Given the description of an element on the screen output the (x, y) to click on. 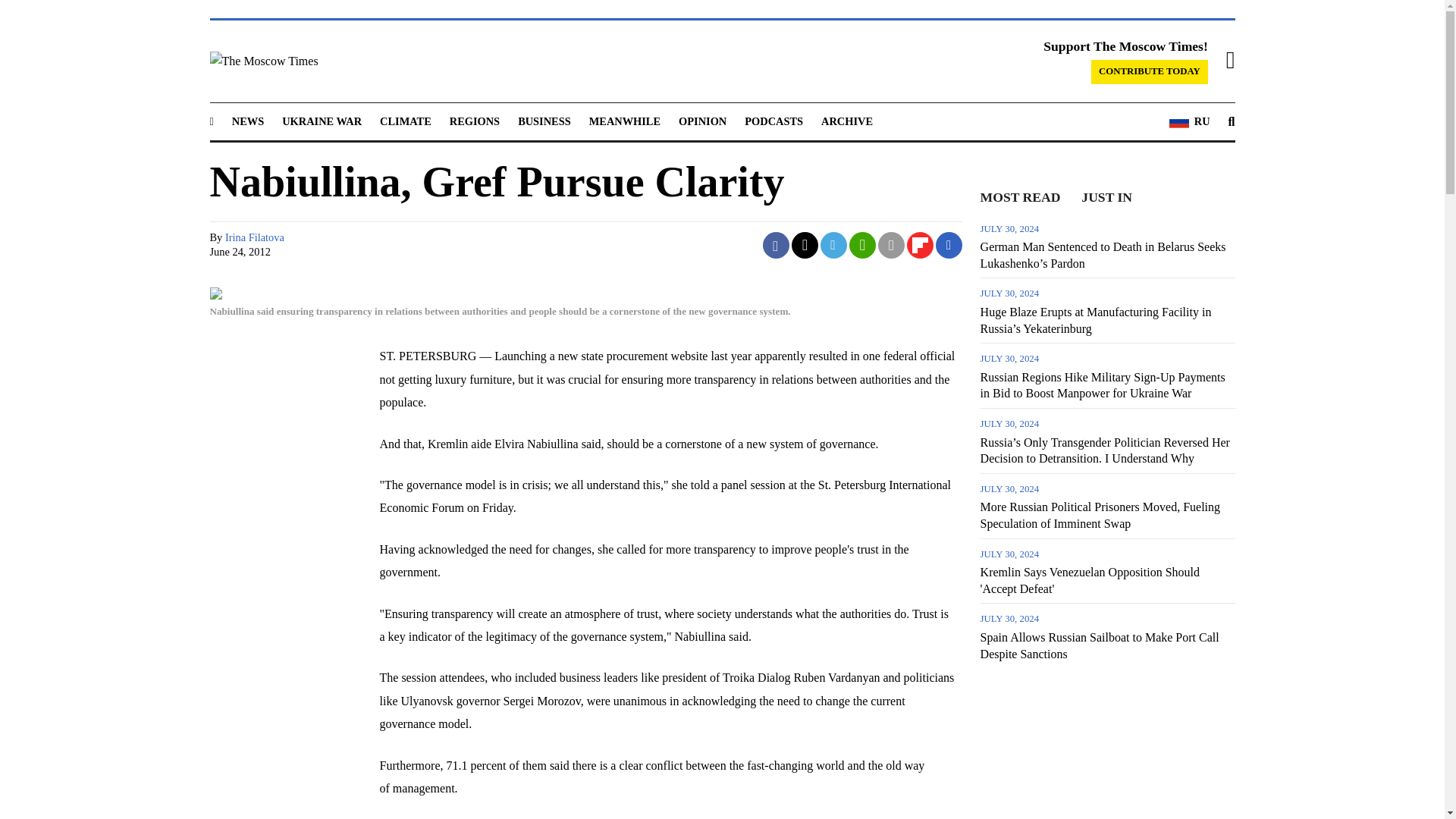
NEWS (247, 121)
Irina Filatova (254, 236)
ARCHIVE (846, 121)
OPINION (702, 121)
RU (1189, 121)
Share on Facebook (775, 244)
UKRAINE WAR (321, 121)
Share on Twitter (805, 244)
MEANWHILE (625, 121)
CLIMATE (405, 121)
CONTRIBUTE TODAY (1149, 71)
PODCASTS (773, 121)
REGIONS (474, 121)
Share on Telegram (834, 244)
BUSINESS (544, 121)
